Given the description of an element on the screen output the (x, y) to click on. 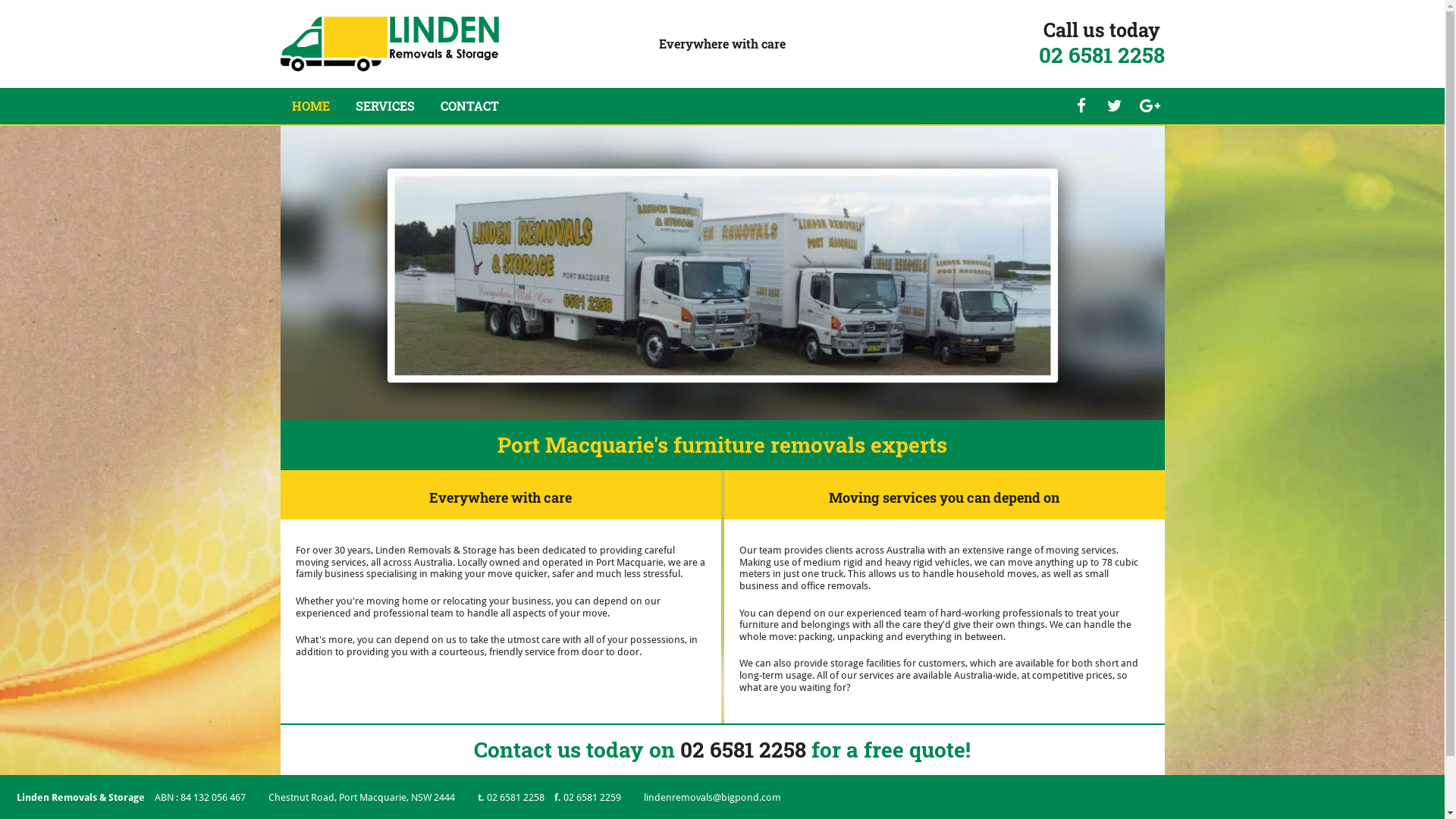
linden removals and storage van Element type: hover (722, 272)
02 6581 2258 Element type: text (1101, 54)
02 6581 2259 Element type: text (592, 797)
02 6581 2258 Element type: text (516, 797)
linden removals and storage business logo Element type: hover (389, 43)
SERVICES Element type: text (384, 106)
CONTACT Element type: text (468, 106)
HOME Element type: text (310, 106)
lindenremovals@bigpond.com Element type: text (712, 797)
02 6581 2258 Element type: text (743, 749)
